Given the description of an element on the screen output the (x, y) to click on. 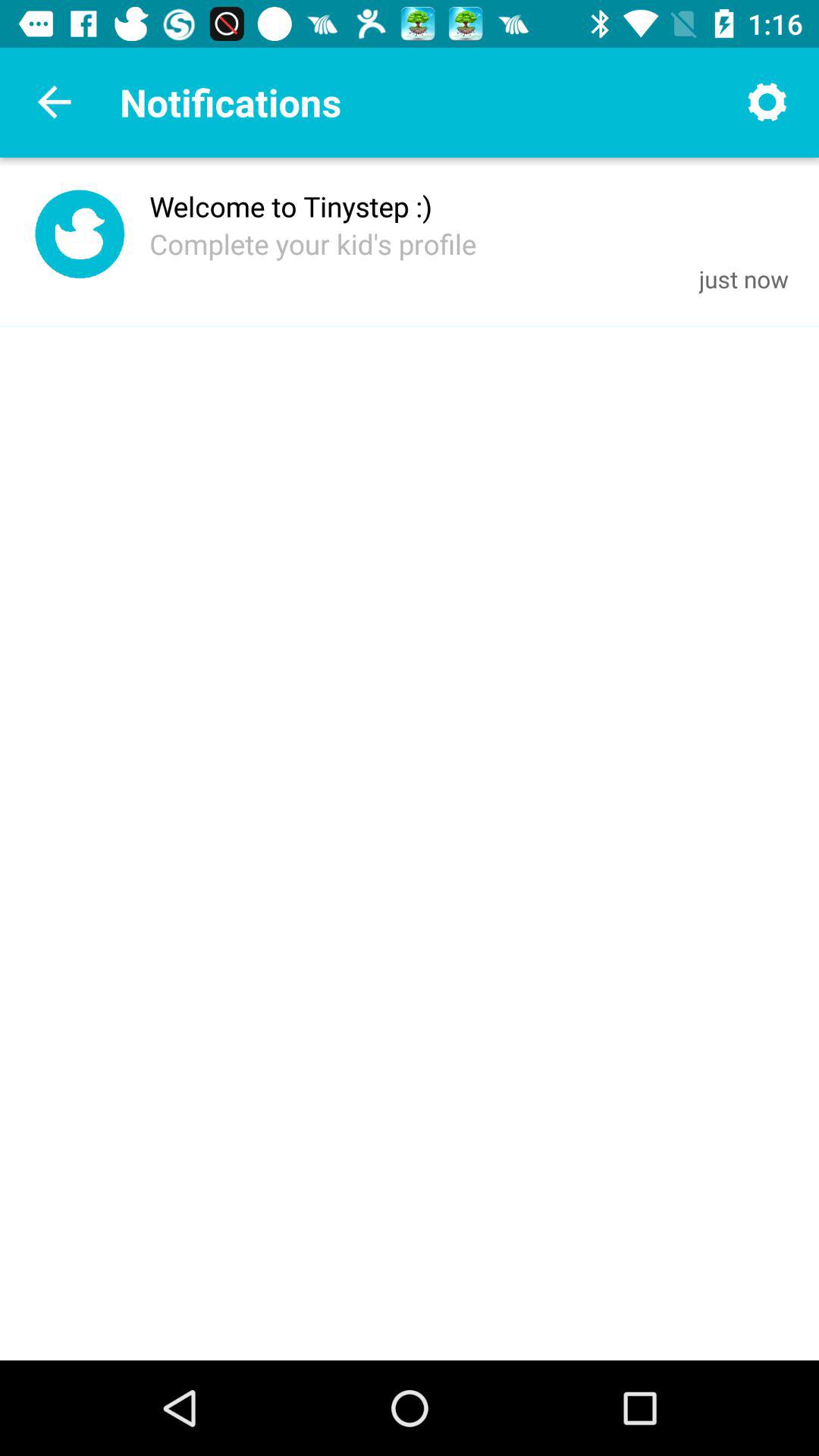
flip to the just now icon (743, 278)
